Given the description of an element on the screen output the (x, y) to click on. 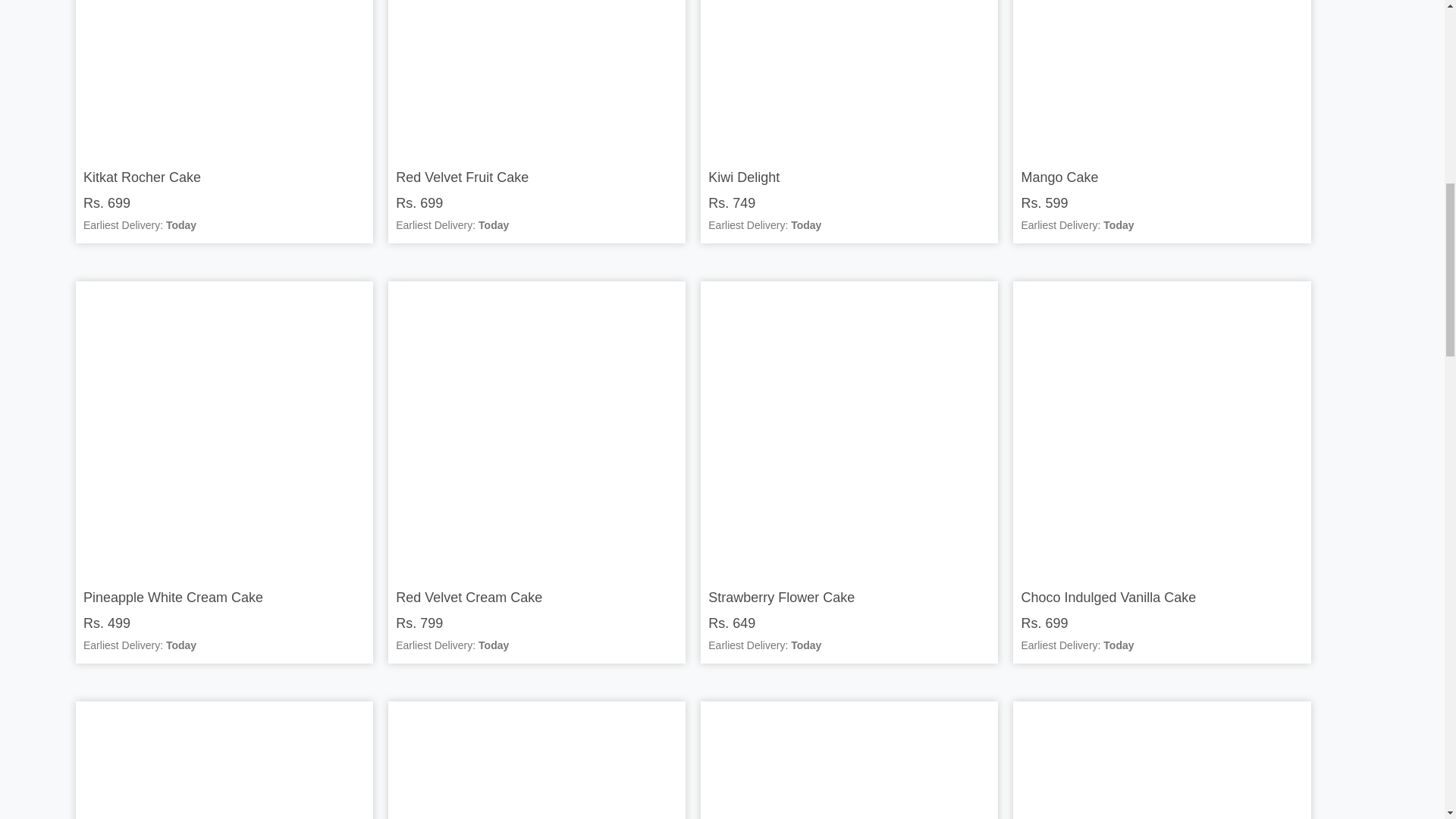
Order Black Forest Cake With White Cream Toppings (536, 763)
Send Coffee Cake for Coffee Lover (223, 763)
Send Choco Blue Velvet Cake Online (1161, 763)
Strawberry Flower Cake Online Online (848, 429)
Order Kiwi Delight Cake Online Buy Online (848, 76)
Pineapple White Cream Cake: Send Online Order Now (223, 429)
Red Velvet Cream Eggless Cake Online Delivery (536, 429)
Order Red Velvet Fruit Cake: Online Delivery Online (536, 76)
Send Kitkat Rocher Cake Online (223, 76)
Buy Send Choco Indulged Vanilla Cake Online in India (1161, 429)
Mango Cake: Send Online in India Send Now (1161, 76)
